Given the description of an element on the screen output the (x, y) to click on. 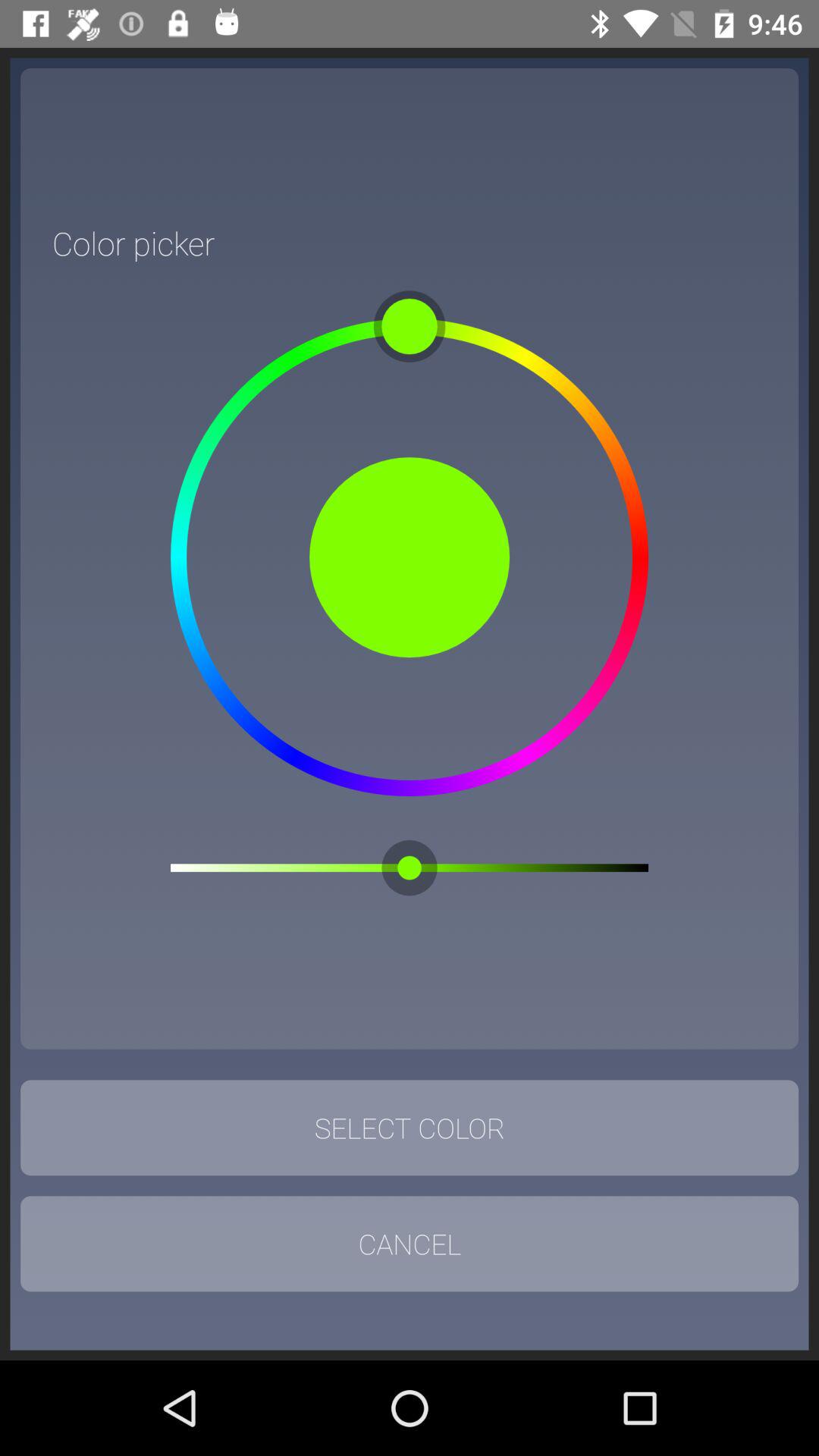
tap the item below select color icon (409, 1243)
